Given the description of an element on the screen output the (x, y) to click on. 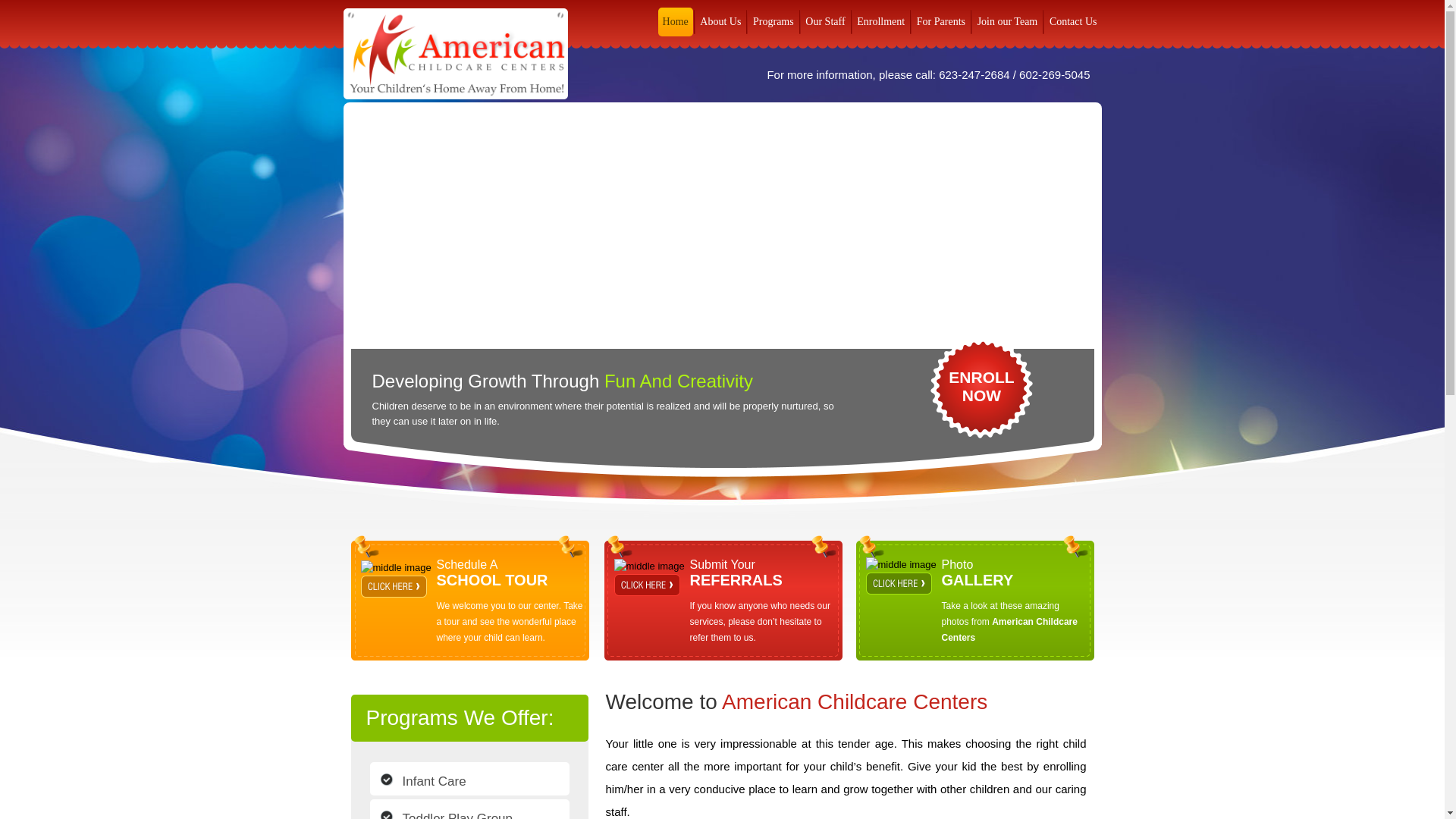
Home (675, 21)
Infant Care (981, 386)
Programs (469, 778)
Toddler Play Group (772, 21)
Our Staff (469, 809)
About Us (824, 21)
Contact Us (720, 21)
For Parents (1073, 21)
Enrollment (940, 21)
